Given the description of an element on the screen output the (x, y) to click on. 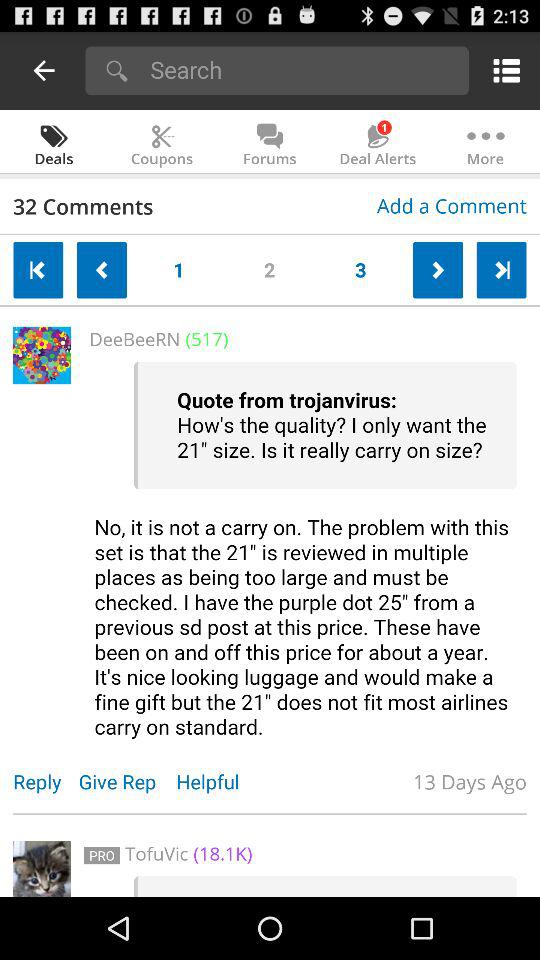
search function (302, 69)
